Given the description of an element on the screen output the (x, y) to click on. 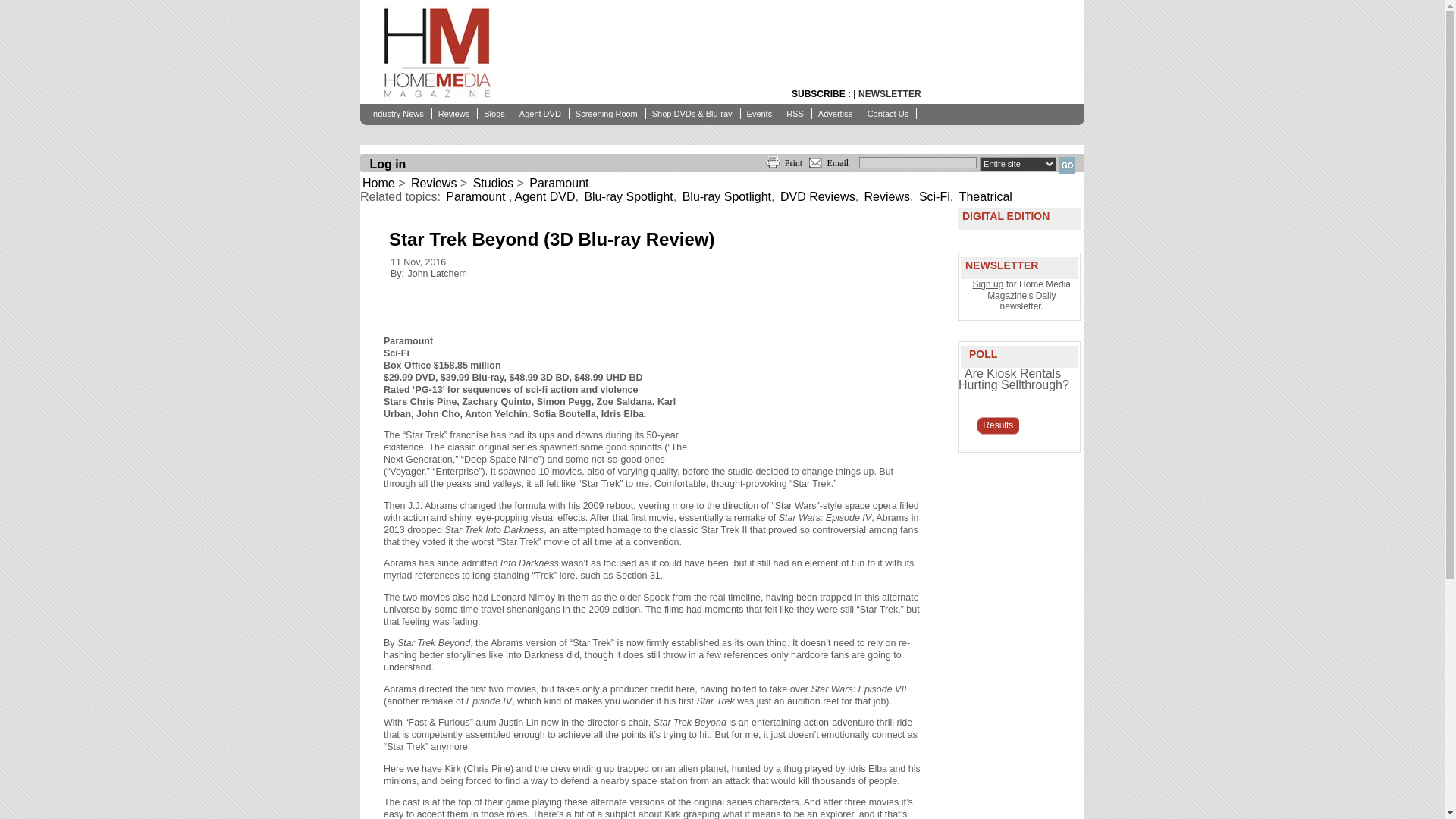
Results (997, 425)
Events (760, 113)
Agent DVD (541, 113)
Contact Us (889, 113)
Industry News (398, 113)
Advertise (836, 113)
Reviews (455, 113)
NEWSLETTER (890, 93)
RSS (796, 113)
Blogs (495, 113)
Screening Room (607, 113)
